Given the description of an element on the screen output the (x, y) to click on. 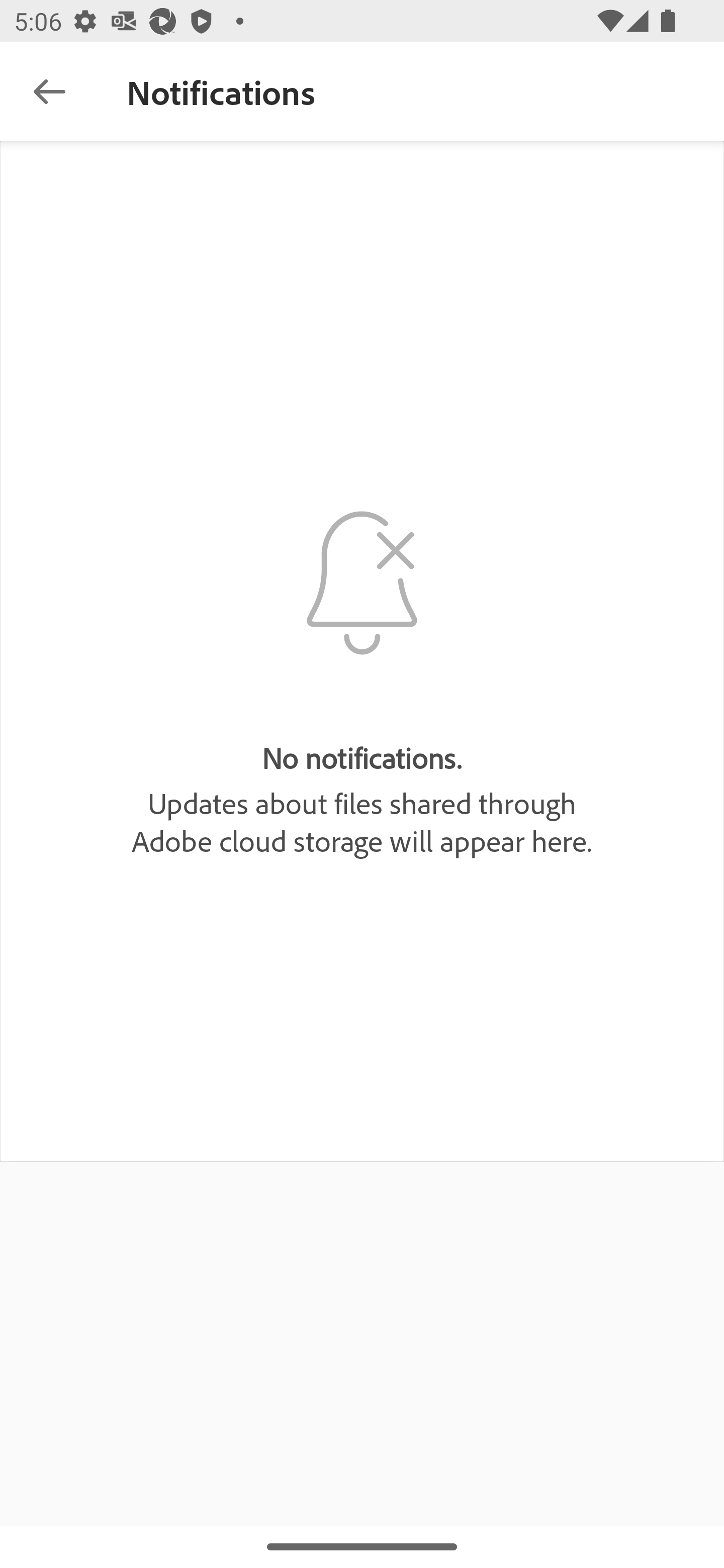
Navigate up (49, 91)
